Given the description of an element on the screen output the (x, y) to click on. 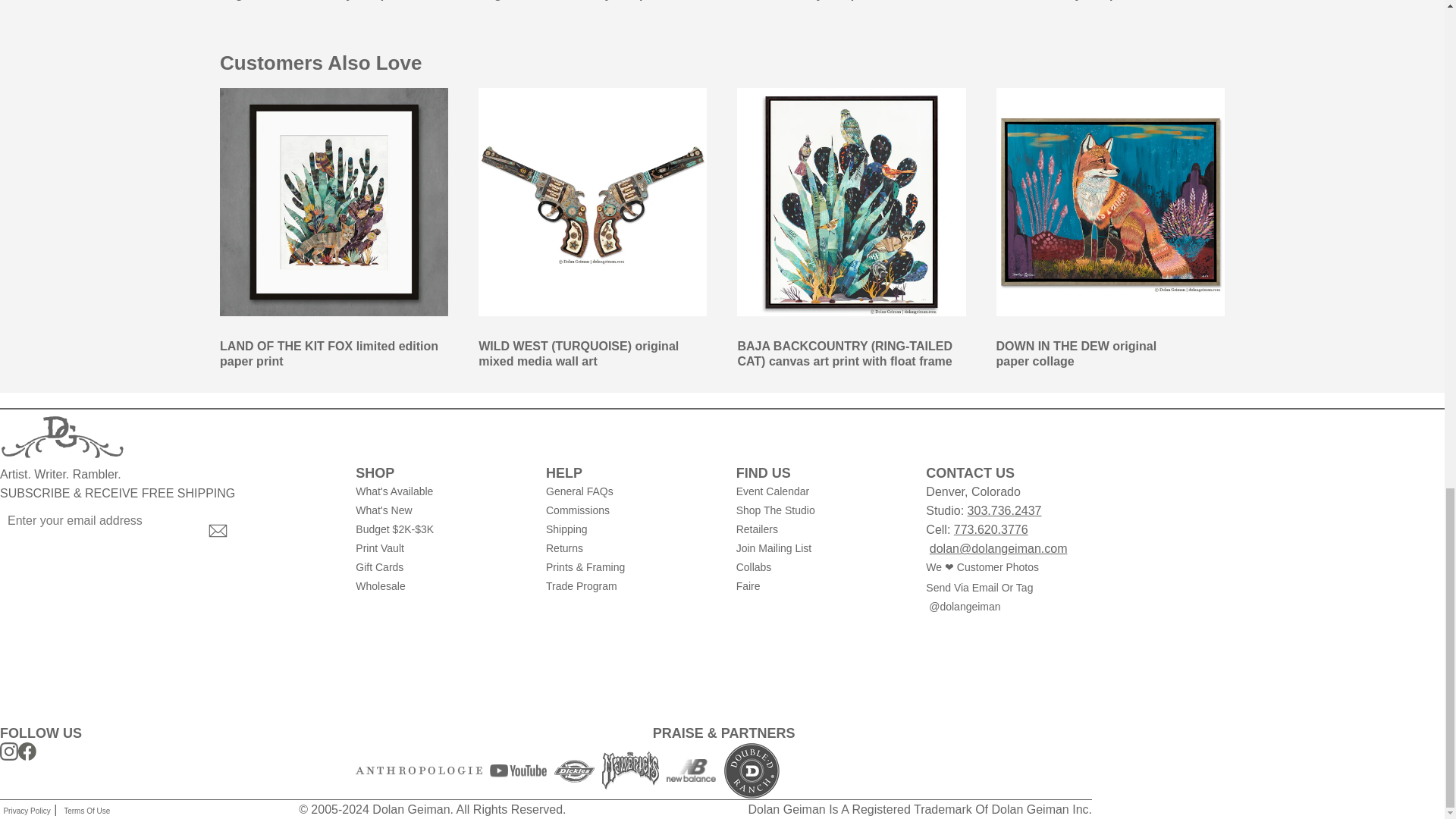
Trade Program (628, 586)
Retailers (819, 529)
Join Mailing List (819, 547)
Collabs (819, 567)
Returns (628, 547)
Commissions (628, 510)
Gift Cards (438, 567)
Event Calendar (819, 491)
What's New (438, 510)
Wholesale (438, 586)
Shop the Studio (819, 510)
Faire (819, 586)
General FAQs (628, 491)
Print Vault (438, 547)
Shipping (628, 529)
